Given the description of an element on the screen output the (x, y) to click on. 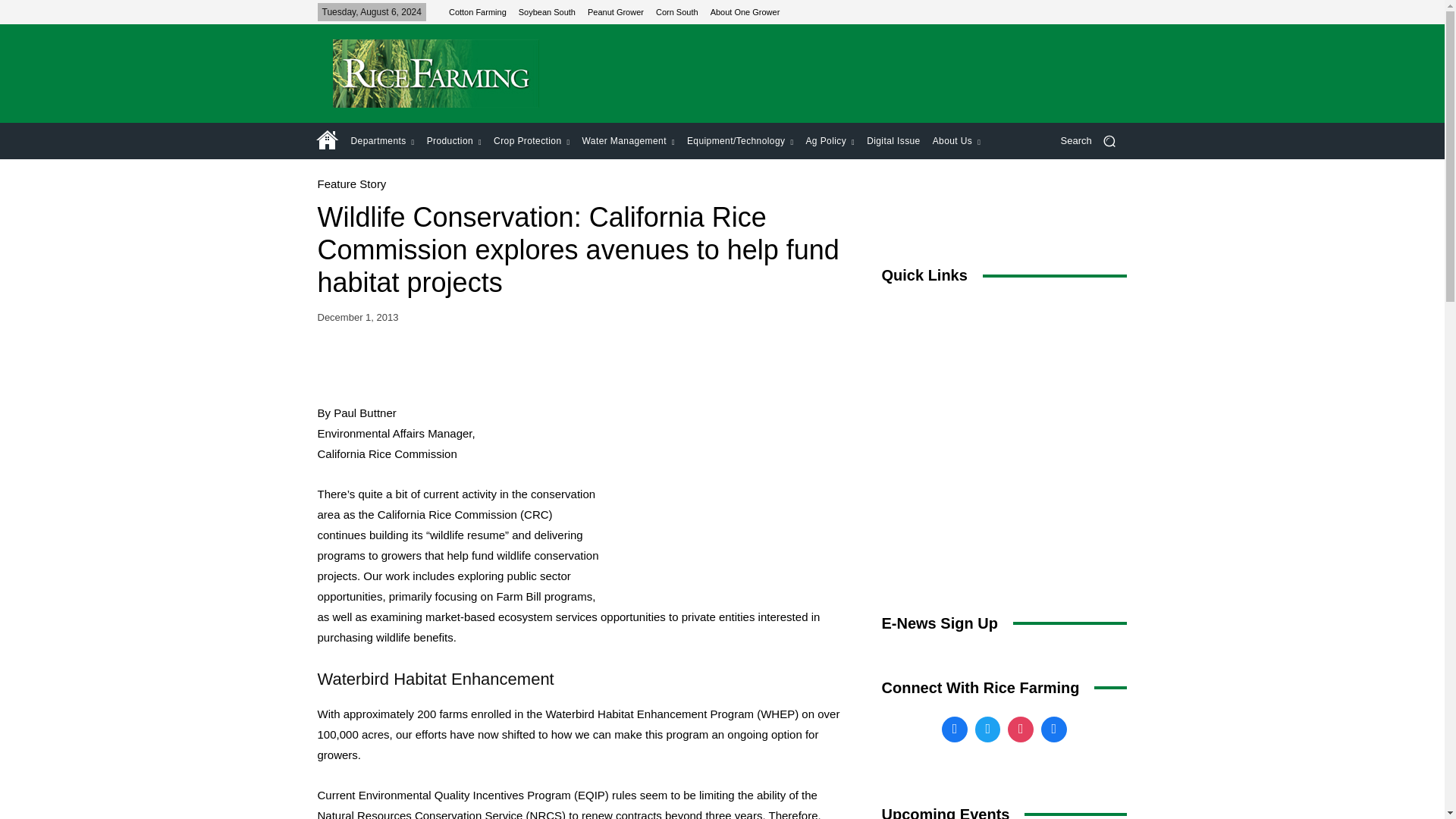
Departments (381, 140)
Corn South (677, 11)
Production (453, 140)
About One Grower (745, 11)
Soybean South (546, 11)
Peanut Grower (615, 11)
Cotton Farming (477, 11)
Rice Farming Header Logo (435, 73)
